Given the description of an element on the screen output the (x, y) to click on. 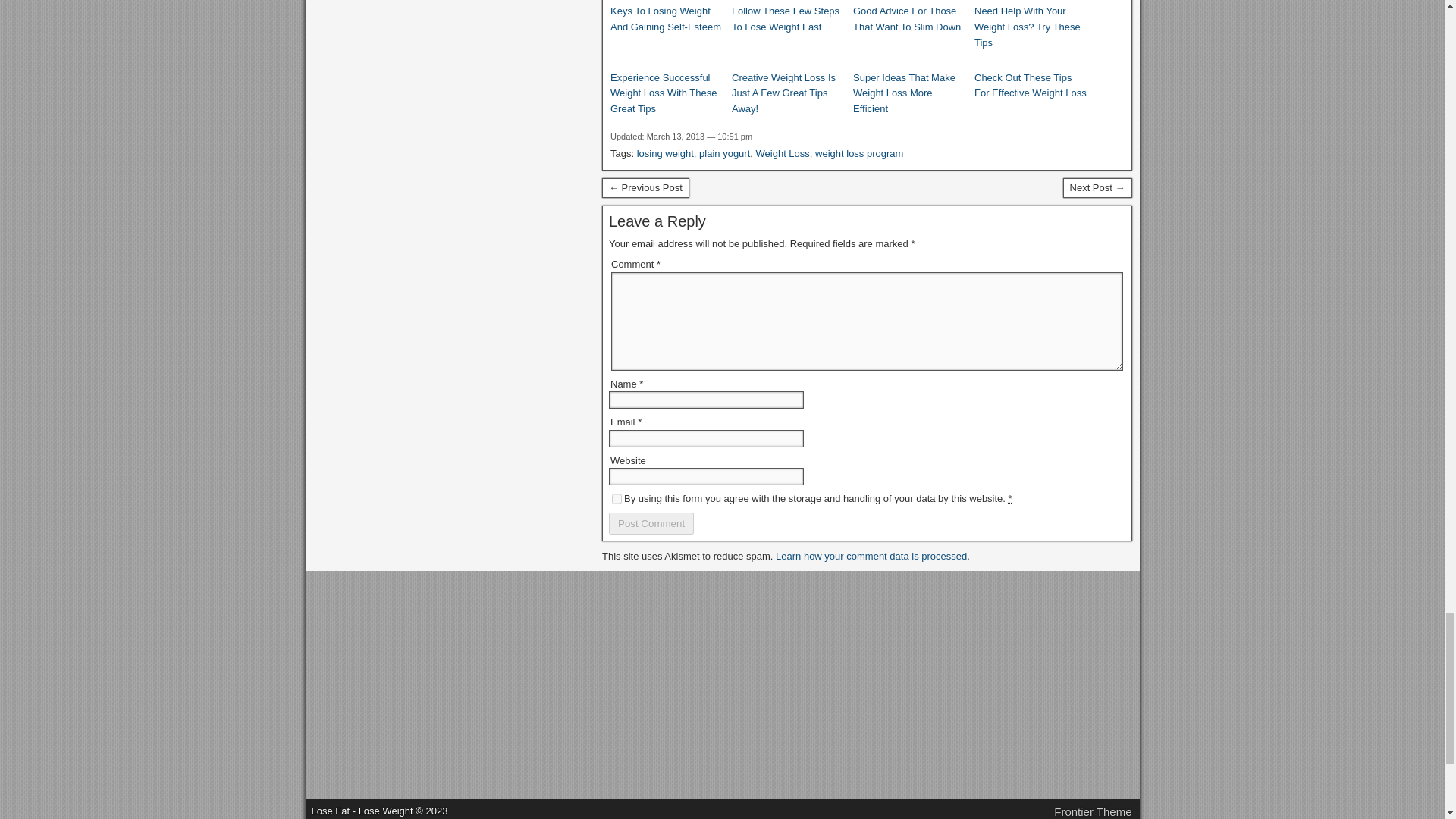
Experience Successful Weight Loss With These Great Tips (666, 93)
Need Help With Your Weight Loss? Try These Tips (1030, 27)
Post Comment (651, 523)
Good Advice For Those That Want To Slim Down (909, 20)
Check Out These Tips For Effective Weight Loss (1030, 86)
plain yogurt (723, 153)
Super Ideas That Make Weight Loss More Efficient (909, 93)
Learn how your comment data is processed (871, 555)
weight loss program (858, 153)
Losing Weight Does Not Have To Be Difficult (645, 188)
